Given the description of an element on the screen output the (x, y) to click on. 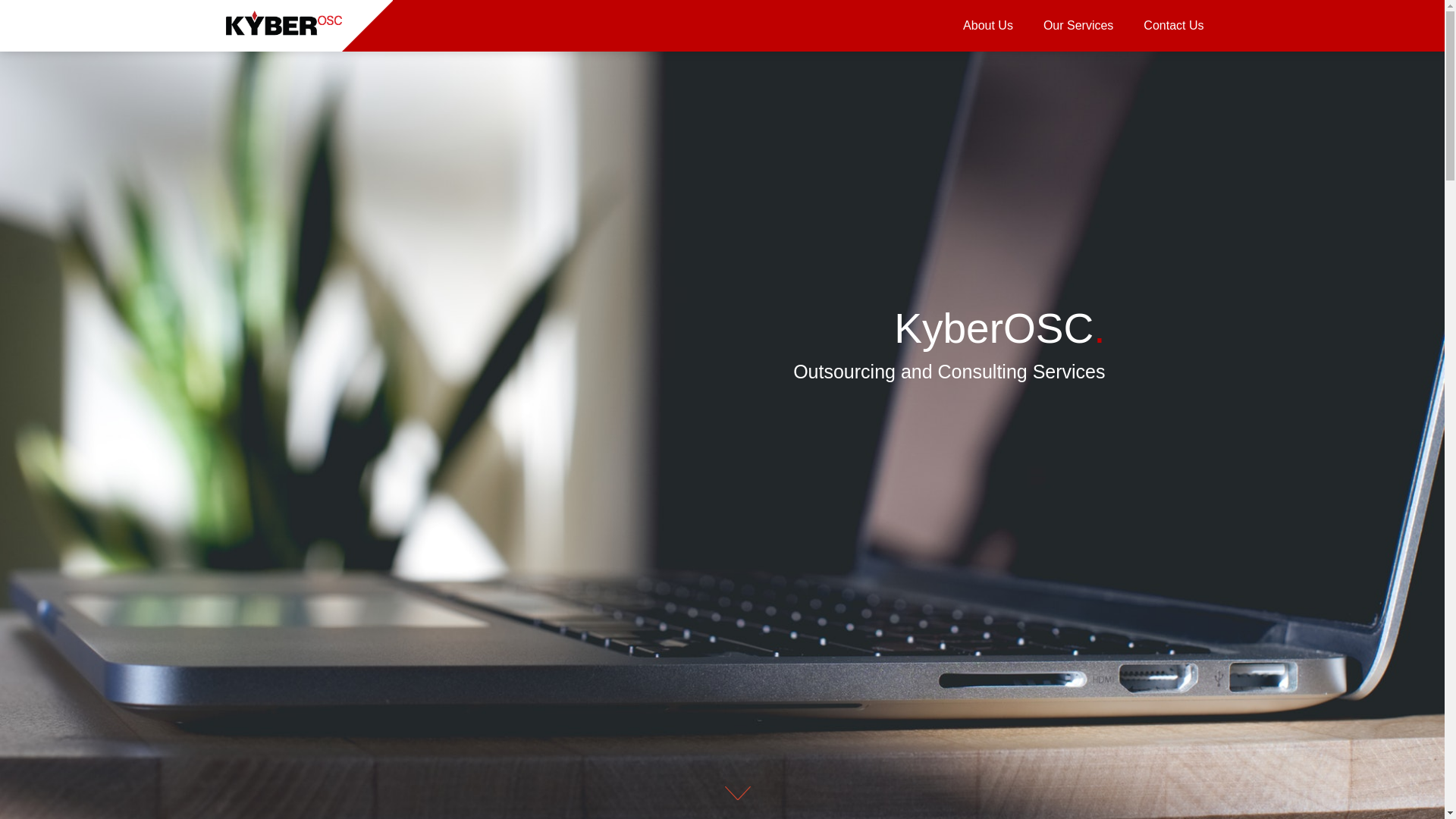
Our Services (1078, 25)
Contact Us (1173, 25)
About Us (987, 25)
